Given the description of an element on the screen output the (x, y) to click on. 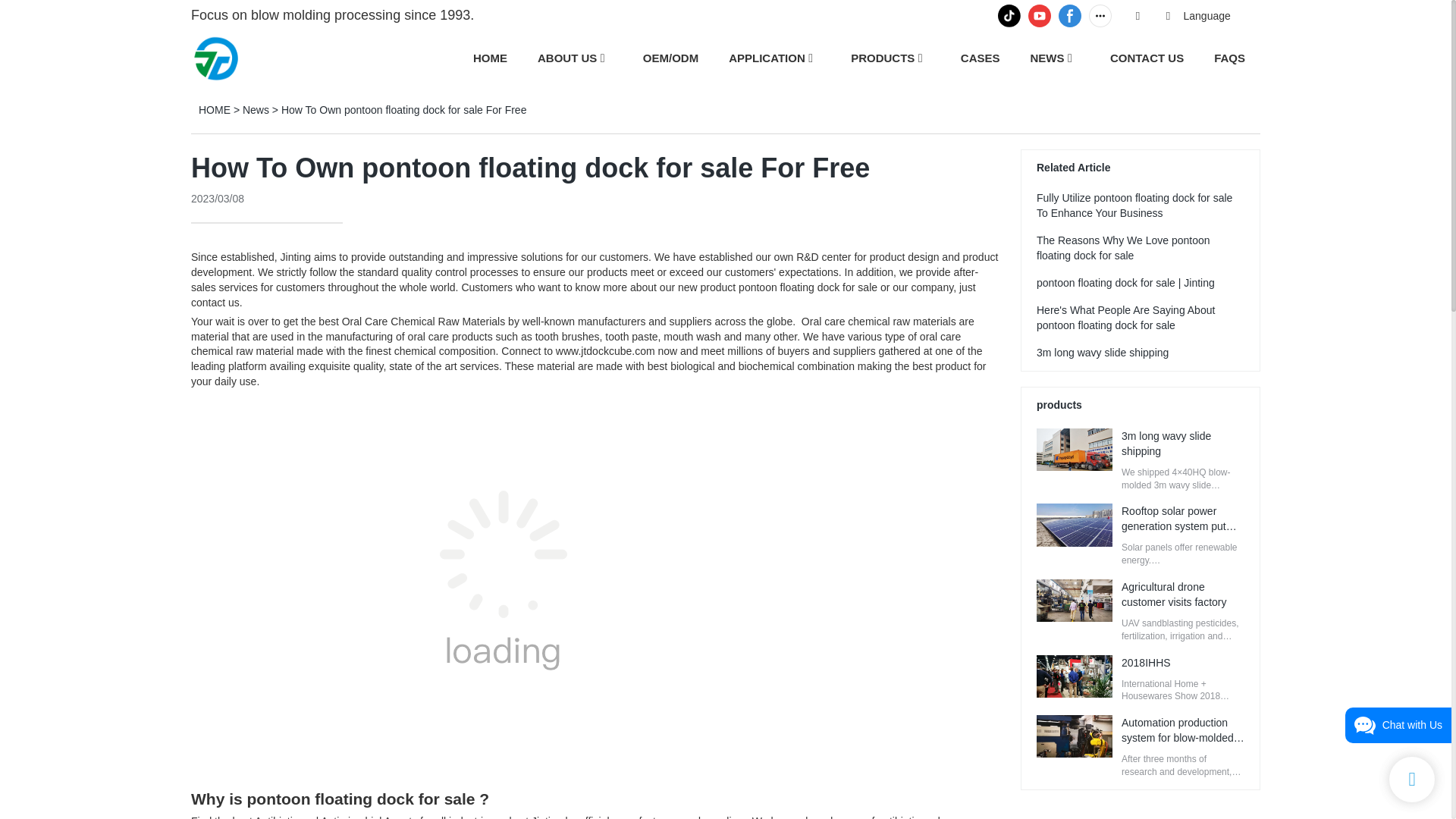
tiktok (1009, 15)
PRODUCTS (882, 57)
HOME (489, 57)
youtube (1039, 15)
APPLICATION (767, 57)
HOME (214, 110)
FAQS (1229, 57)
NEWS (1046, 57)
facebook (1069, 15)
CASES (980, 57)
CONTACT US (1146, 57)
ABOUT US (566, 57)
